Given the description of an element on the screen output the (x, y) to click on. 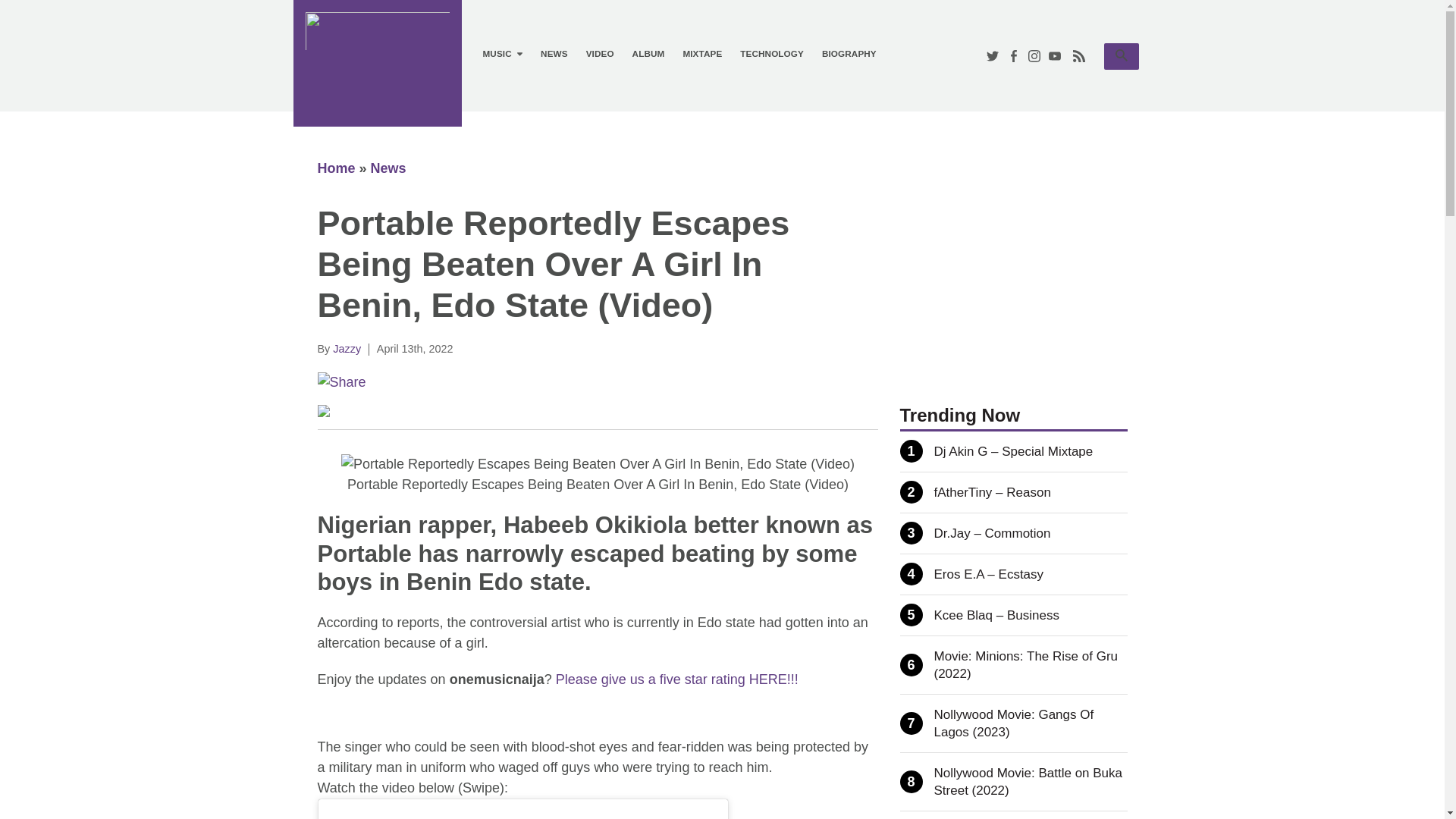
News (388, 168)
MUSIC (502, 53)
MIXTAPE (701, 53)
Search (1120, 55)
BIOGRAPHY (848, 53)
Posts by Jazzy (347, 348)
NEWS (553, 53)
Jazzy (347, 348)
TECHNOLOGY (1120, 56)
Home (771, 53)
Please give us a five star rating HERE!!! (336, 168)
ALBUM (676, 679)
VIDEO (648, 53)
OneMusicNaija (599, 53)
